Given the description of an element on the screen output the (x, y) to click on. 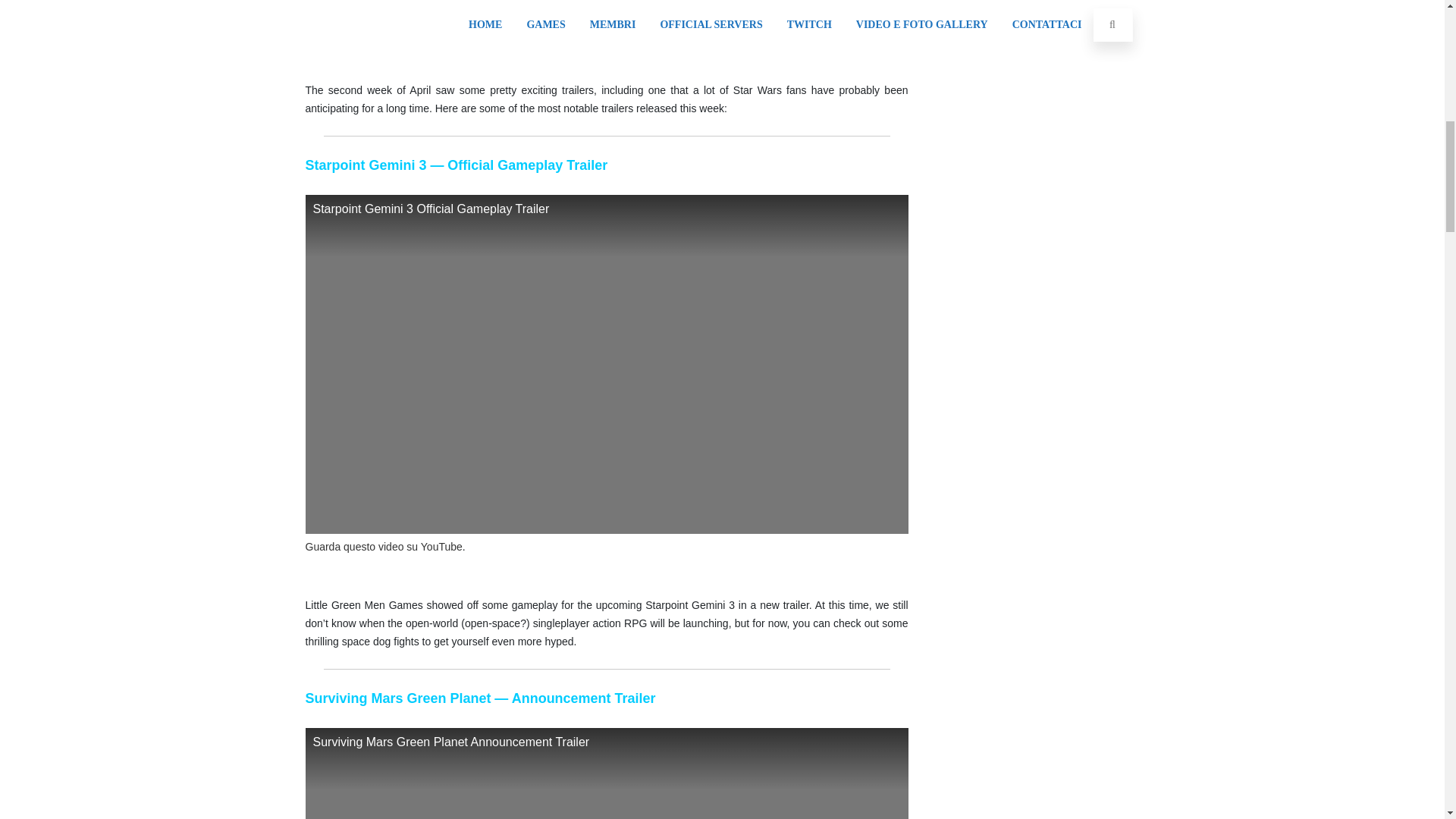
Surviving Mars Green Planet Announcement Trailer (605, 773)
